Given the description of an element on the screen output the (x, y) to click on. 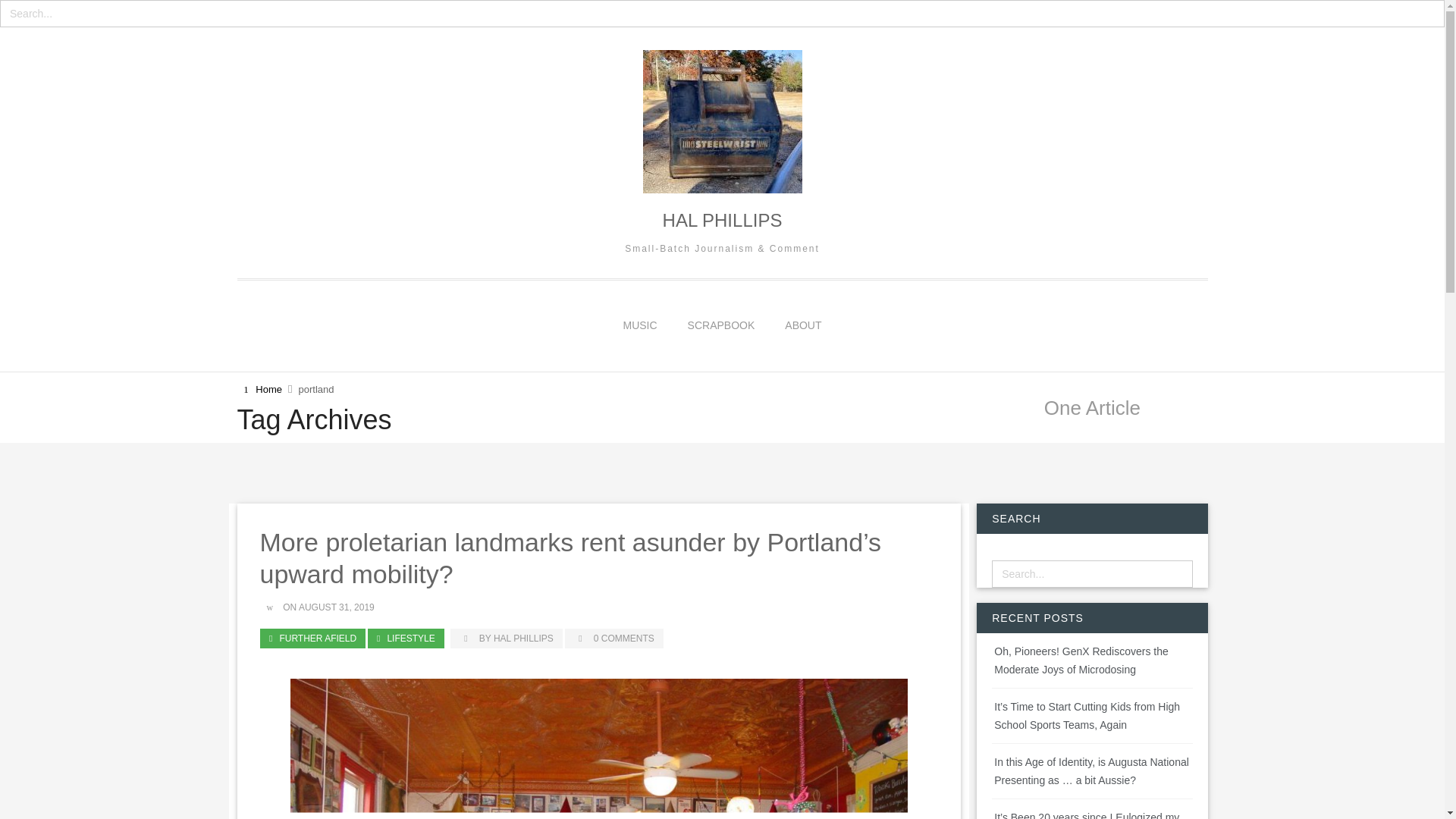
About (802, 325)
Home (261, 389)
Music (639, 325)
LIFESTYLE (406, 638)
MUSIC (639, 325)
FURTHER AFIELD (312, 638)
go to home (261, 389)
written by Hal Phillips (505, 638)
HAL PHILLIPS (721, 220)
